Given the description of an element on the screen output the (x, y) to click on. 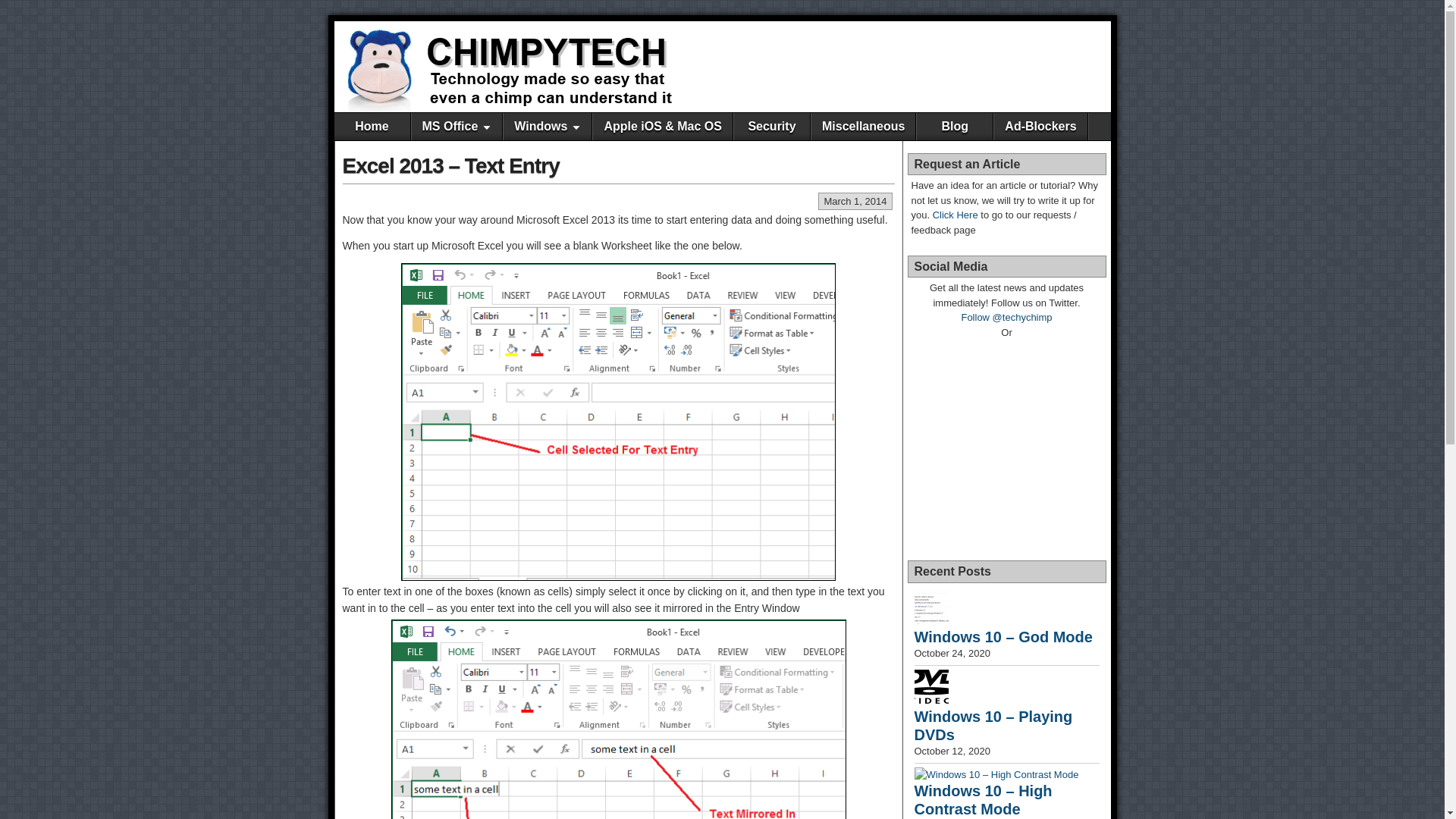
MS Office (456, 126)
Home (371, 126)
Miscellaneous (862, 126)
Ad-Blockers (1040, 126)
Click Here (955, 214)
Windows (547, 126)
Security (771, 126)
Advertisement (926, 64)
Blog (954, 126)
